Given the description of an element on the screen output the (x, y) to click on. 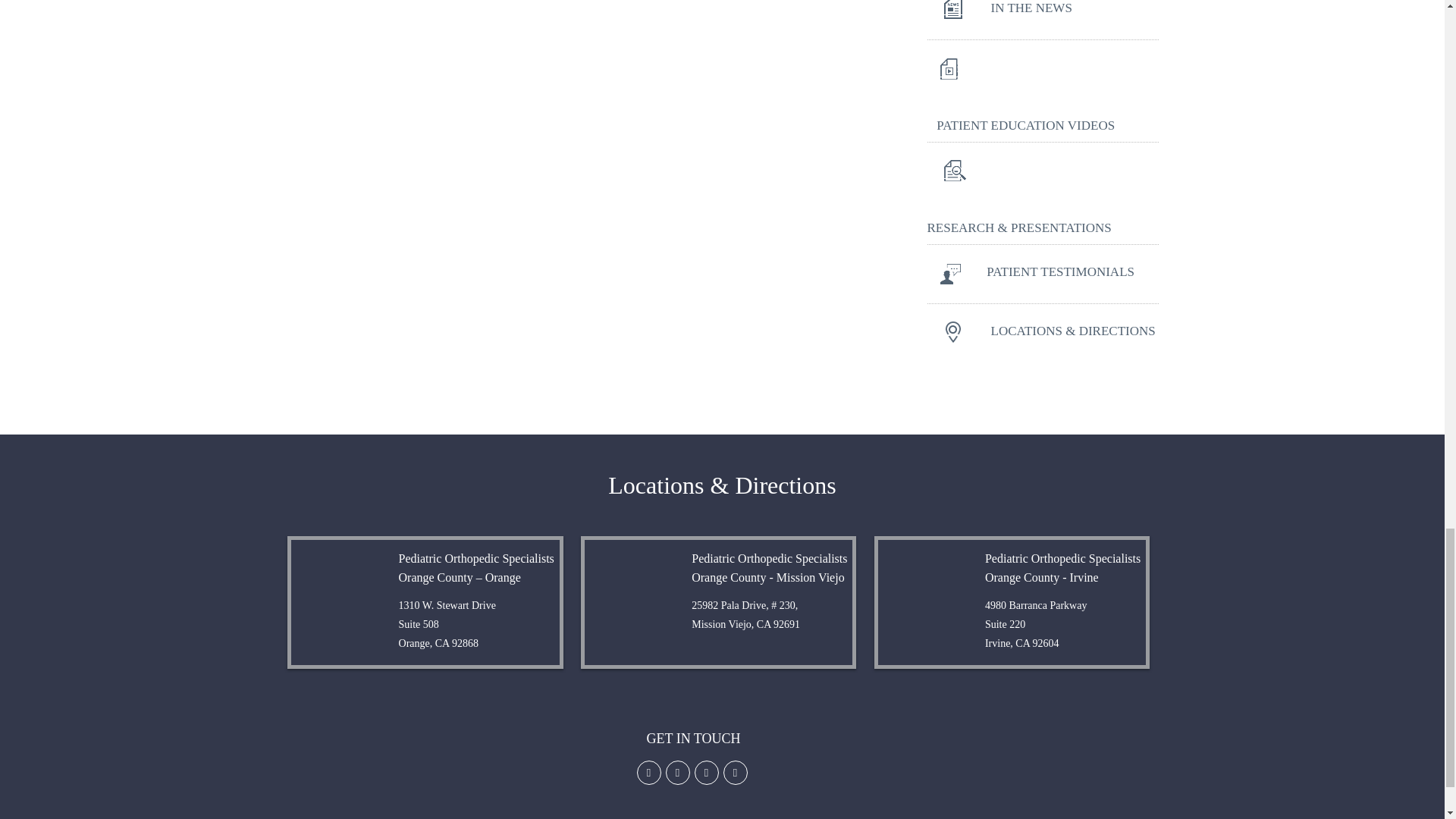
Follow Dr. Schlechter on YouTube (735, 771)
Follow Dr. Schlechter on Facebook (649, 771)
Follow Dr. Schlechter on LinkedIn (706, 771)
Follow Dr. Schlechter on Twitter (677, 771)
